Given the description of an element on the screen output the (x, y) to click on. 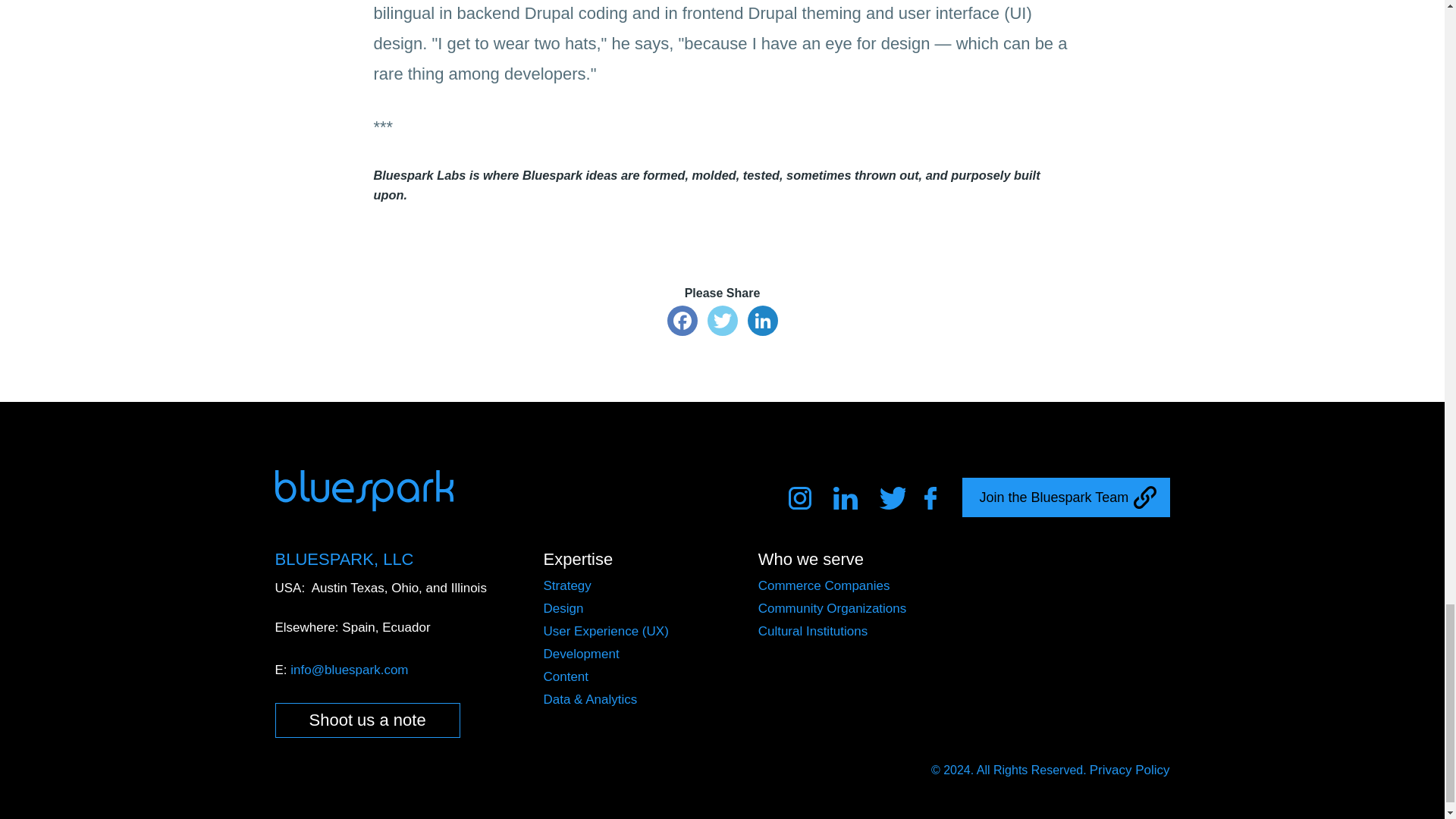
Shoot us a note (367, 719)
Privacy Policy (1129, 769)
LinkedIn (762, 322)
Facebook (681, 322)
Cultural Institutions (812, 631)
Community Organizations (832, 608)
Design (563, 608)
Instagram (802, 498)
Commerce Companies (823, 585)
Twitter (721, 322)
